Given the description of an element on the screen output the (x, y) to click on. 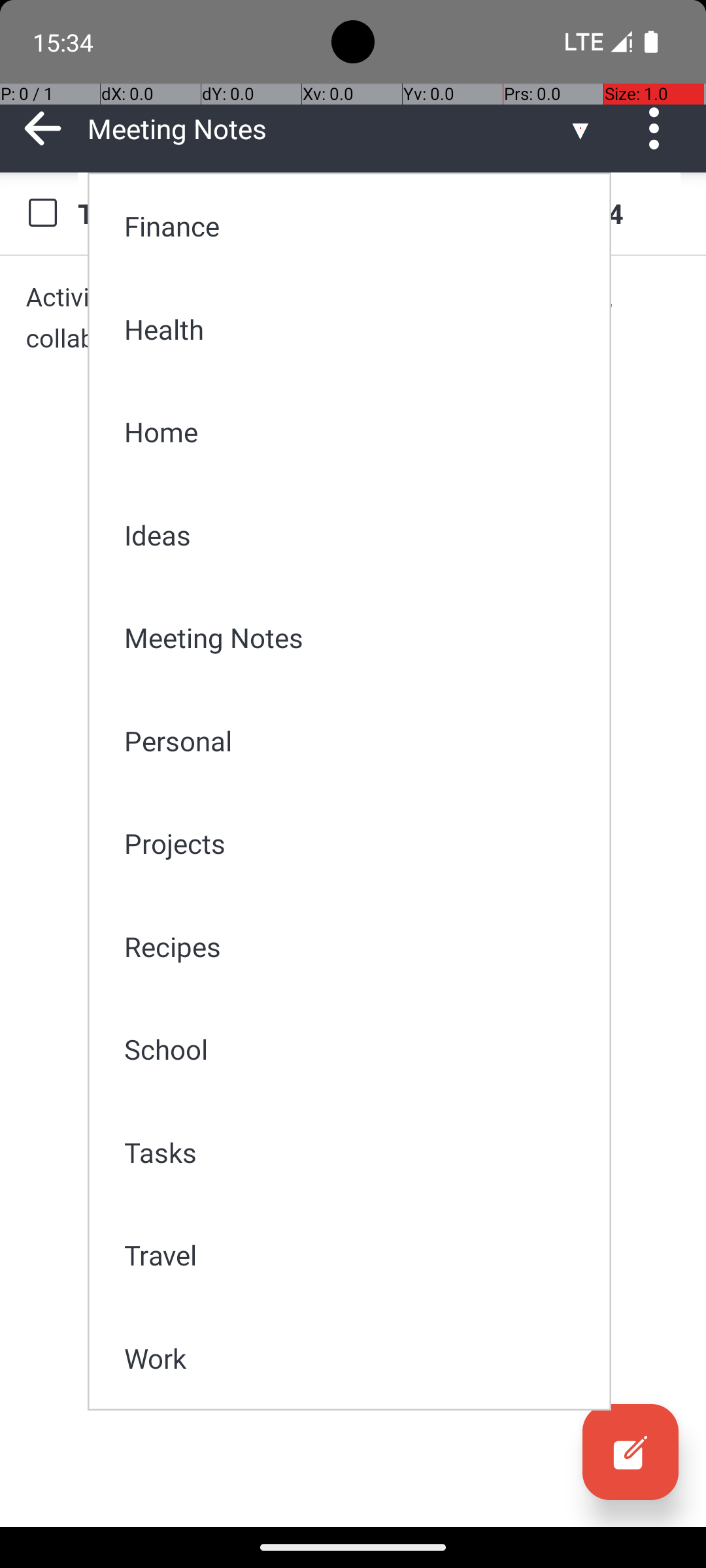
Finance Element type: android.widget.TextView (358, 225)
Health Element type: android.widget.TextView (358, 328)
Ideas Element type: android.widget.TextView (358, 534)
Meeting Notes Element type: android.widget.TextView (358, 636)
Personal Element type: android.widget.TextView (358, 740)
Projects Element type: android.widget.TextView (358, 842)
Recipes Element type: android.widget.TextView (358, 945)
School Element type: android.widget.TextView (358, 1048)
Tasks Element type: android.widget.TextView (358, 1151)
Travel Element type: android.widget.TextView (358, 1254)
Work Element type: android.widget.TextView (358, 1357)
